Given the description of an element on the screen output the (x, y) to click on. 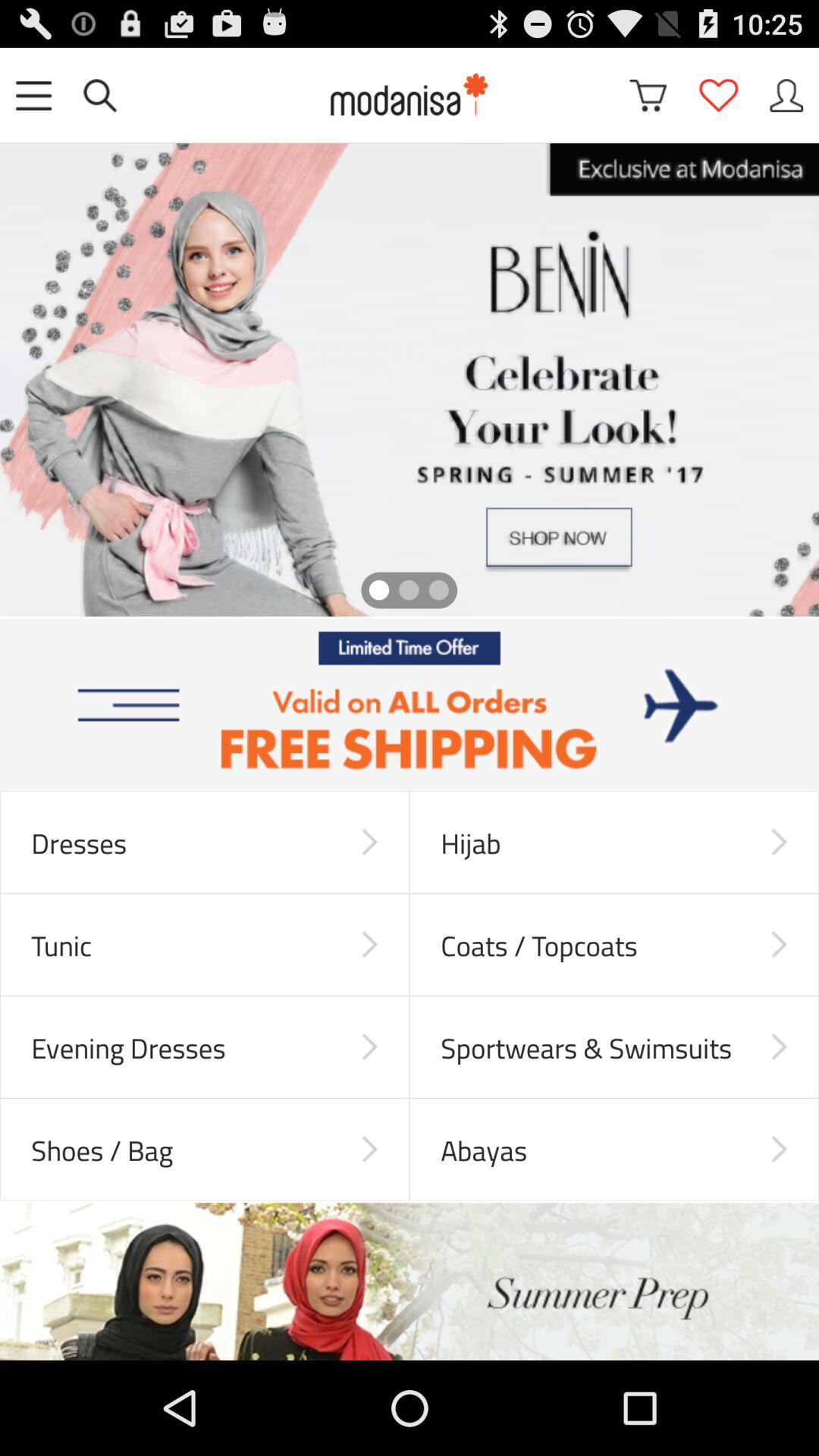
go to search (99, 95)
